Given the description of an element on the screen output the (x, y) to click on. 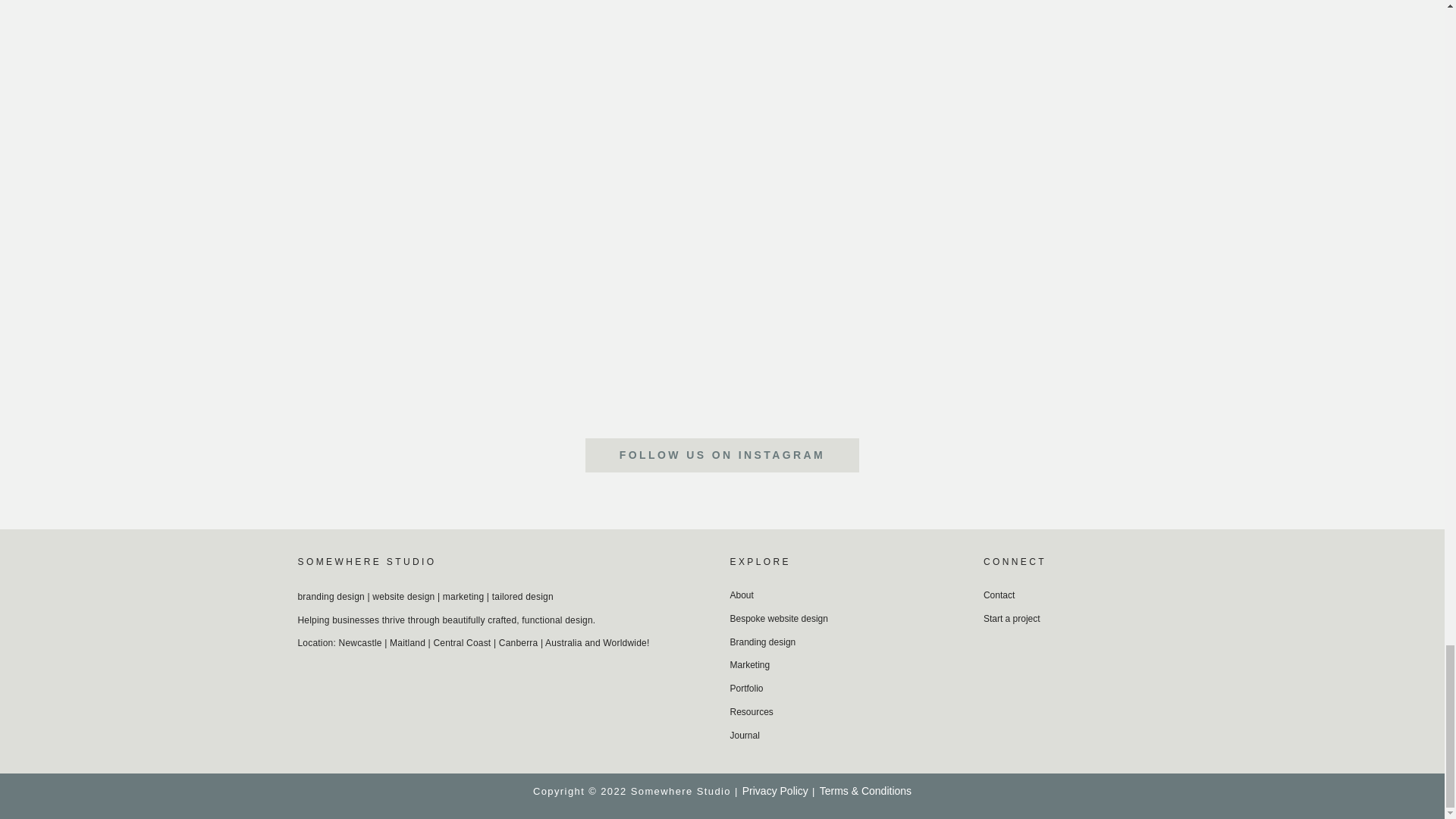
Bespoke website design (848, 618)
Branding design (848, 641)
FOLLOW US ON INSTAGRAM (722, 455)
About (848, 595)
